Given the description of an element on the screen output the (x, y) to click on. 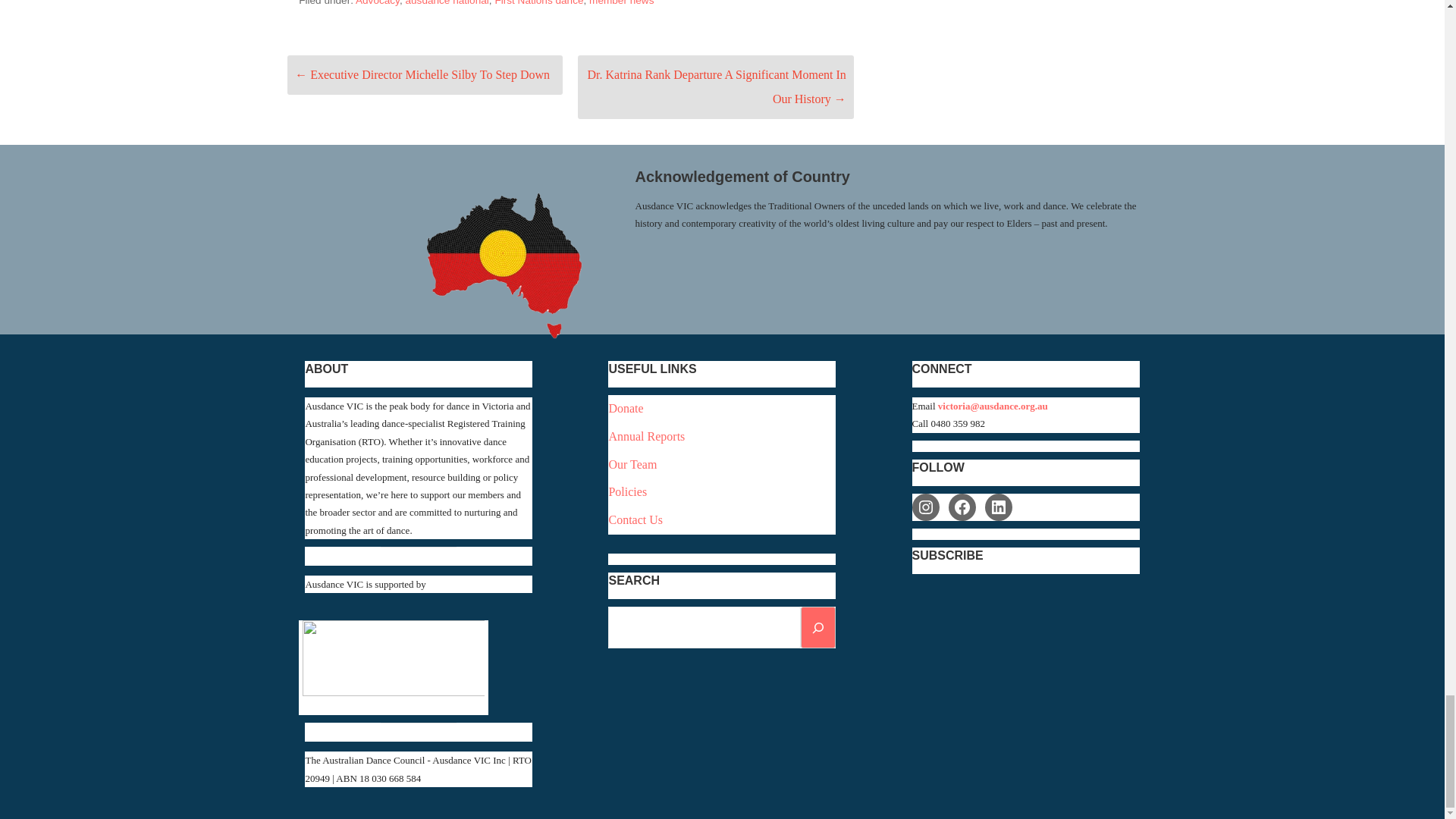
Advocacy (376, 2)
ausdance national (445, 2)
First Nations dance (539, 2)
member news (621, 2)
